Given the description of an element on the screen output the (x, y) to click on. 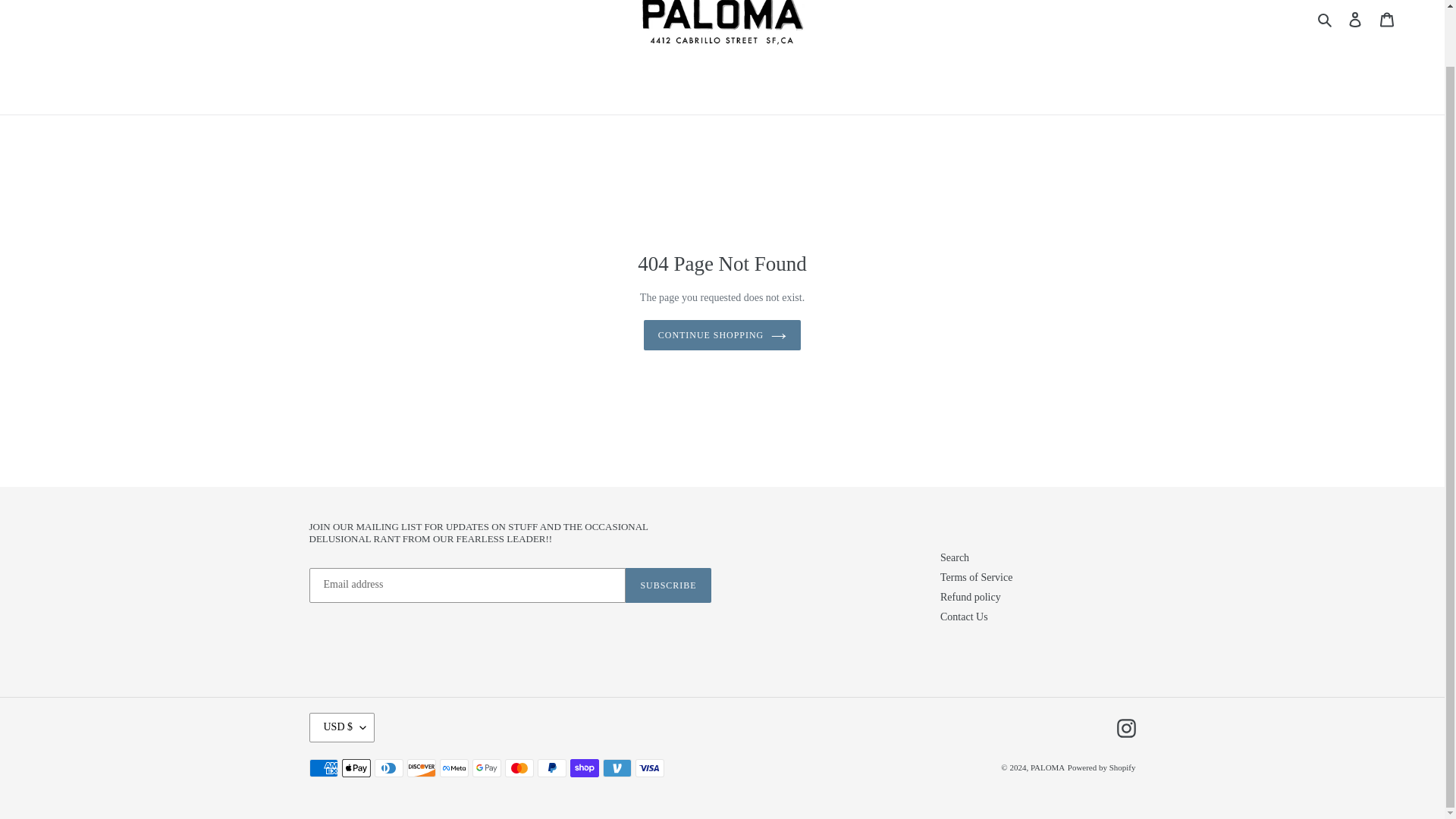
Contact Us (964, 616)
CONTINUE SHOPPING (721, 335)
PALOMA (1047, 767)
Log in (1355, 19)
Search (1326, 18)
Search (954, 557)
Terms of Service (975, 577)
Powered by Shopify (1101, 767)
Cart (1387, 19)
SUBSCRIBE (668, 585)
Instagram (1125, 728)
Refund policy (970, 596)
